Given the description of an element on the screen output the (x, y) to click on. 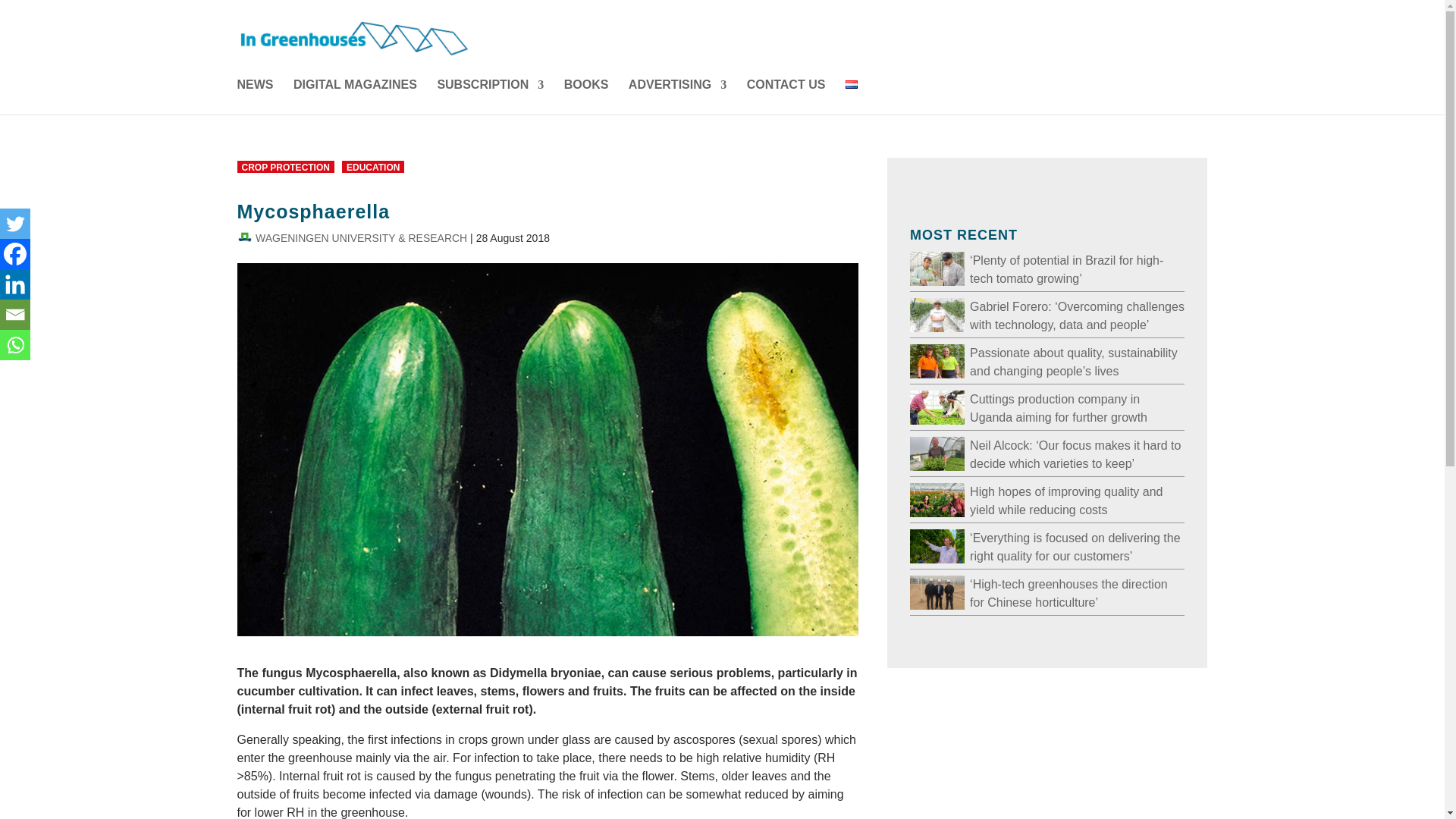
SUBSCRIPTION (489, 96)
ADVERTISING (677, 96)
DIGITAL MAGAZINES (355, 96)
Linkedin (15, 284)
NEWS (254, 96)
CROP PROTECTION (284, 166)
EDUCATION (373, 166)
Whatsapp (15, 345)
Facebook (15, 254)
Email (15, 314)
CONTACT US (785, 96)
BOOKS (586, 96)
Twitter (15, 223)
